Given the description of an element on the screen output the (x, y) to click on. 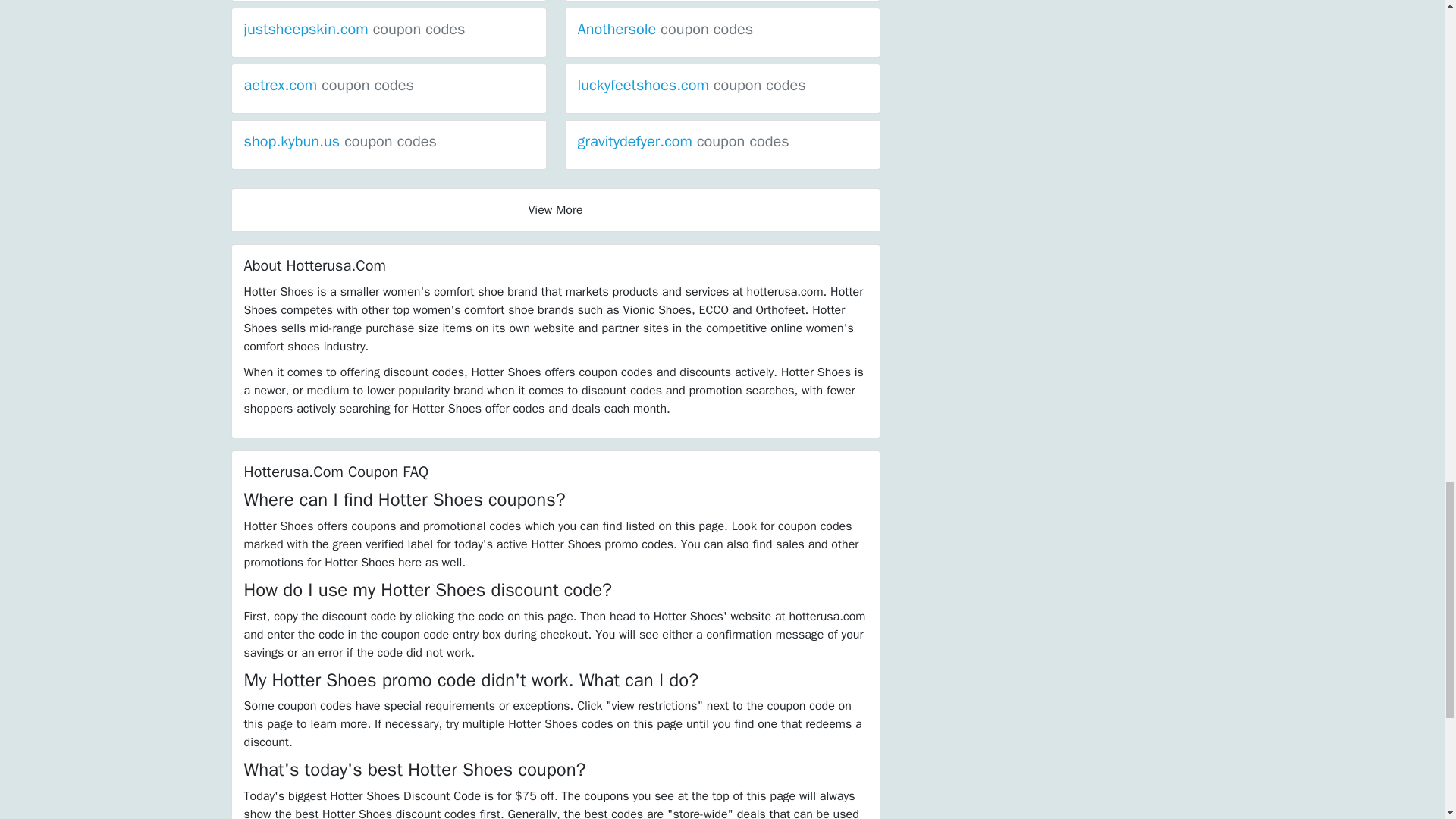
justsheepskin.com coupon codes (354, 28)
shop.kybun.us coupon codes (340, 140)
luckyfeetshoes.com coupon codes (692, 85)
aetrex.com coupon codes (328, 85)
aetrex.com coupon codes (328, 85)
justsheepskin.com coupon codes (354, 28)
Anothersole coupon codes (666, 28)
Anothersole coupon codes (666, 28)
gravitydefyer.com coupon codes (683, 140)
shop.kybun.us coupon codes (340, 140)
luckyfeetshoes.com coupon codes (692, 85)
